Given the description of an element on the screen output the (x, y) to click on. 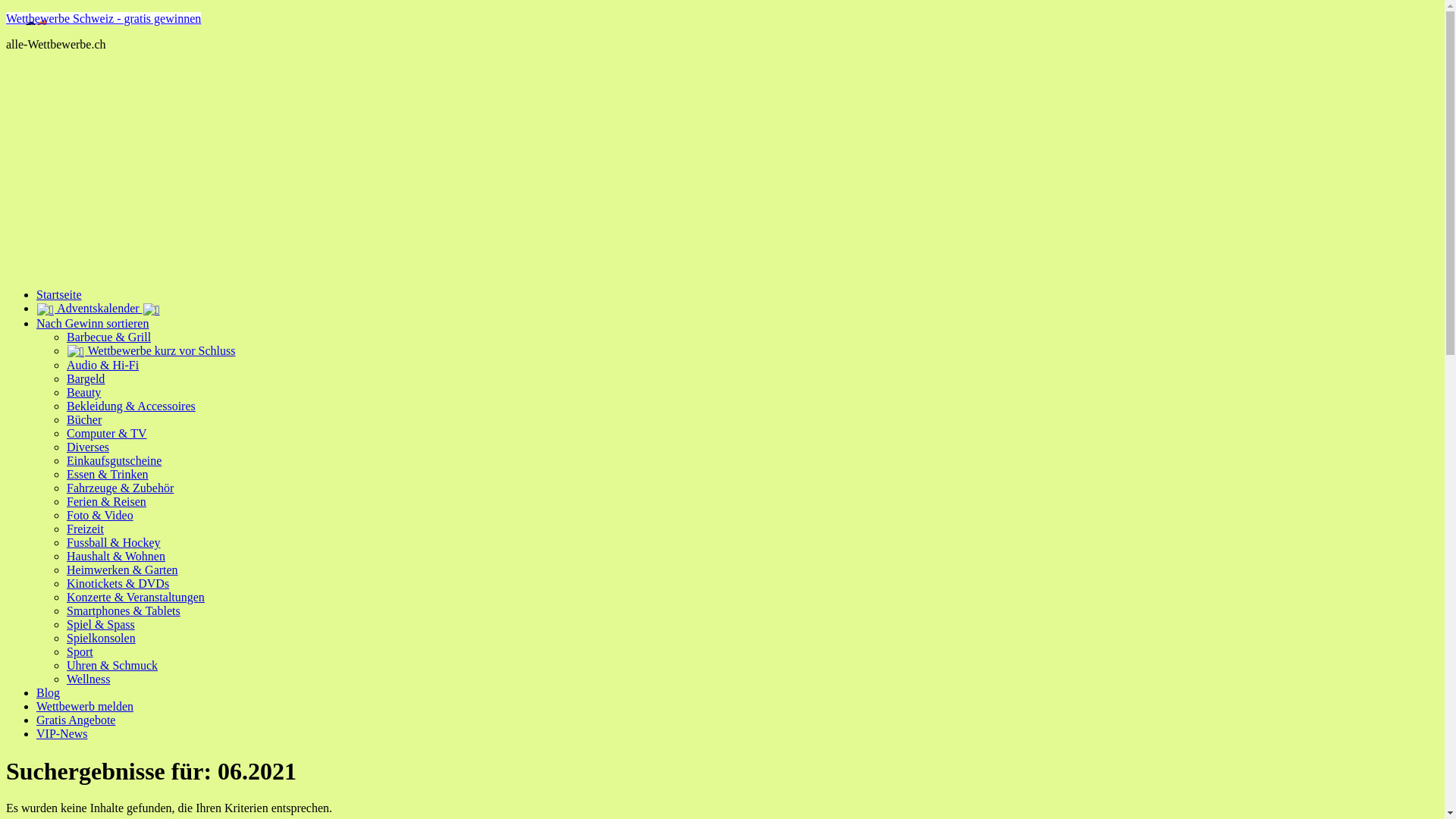
Advertisement Element type: hover (461, 169)
Wettbewerbe kurz vor Schluss Element type: text (150, 350)
Audio & Hi-Fi Element type: text (102, 364)
Essen & Trinken Element type: text (107, 473)
Einkaufsgutscheine Element type: text (113, 460)
Konzerte & Veranstaltungen Element type: text (135, 596)
Blog Element type: text (47, 692)
Heimwerken & Garten Element type: text (122, 569)
Diverses Element type: text (87, 446)
Spielkonsolen Element type: text (100, 637)
Wettbewerbe Schweiz - gratis gewinnen Element type: text (103, 18)
Gratis Angebote Element type: text (75, 719)
Adventskalender Element type: text (98, 307)
Foto & Video Element type: text (99, 514)
Haushalt & Wohnen Element type: text (115, 555)
Bargeld Element type: text (85, 378)
Wellness Element type: text (87, 678)
Sport Element type: text (79, 651)
Ferien & Reisen Element type: text (106, 501)
Barbecue & Grill Element type: text (108, 336)
Uhren & Schmuck Element type: text (111, 664)
Startseite Element type: text (58, 294)
Computer & TV Element type: text (106, 432)
Wettbewerb melden Element type: text (84, 705)
Kinotickets & DVDs Element type: text (117, 583)
VIP-News Element type: text (61, 733)
Fussball & Hockey Element type: text (113, 542)
Smartphones & Tablets Element type: text (123, 610)
Nach Gewinn sortieren Element type: text (92, 322)
Spiel & Spass Element type: text (100, 624)
Bekleidung & Accessoires Element type: text (130, 405)
Beauty Element type: text (83, 391)
Freizeit Element type: text (84, 528)
